Given the description of an element on the screen output the (x, y) to click on. 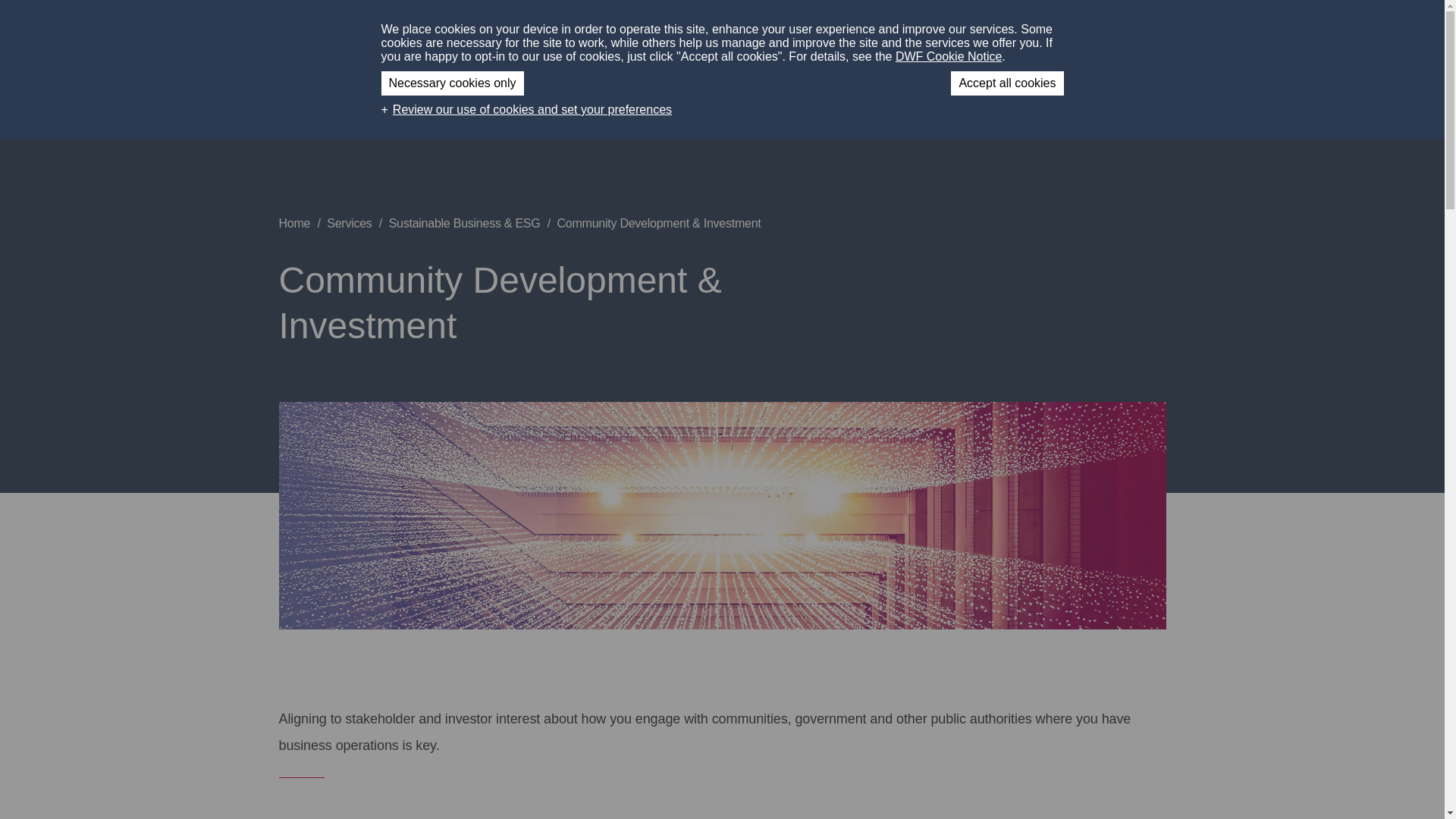
LOCATIONS (898, 30)
HOME (671, 30)
CLIENT LOGIN (1063, 30)
ABOUT (728, 30)
SUSTAINABILITY (813, 30)
CAREERS (977, 30)
